Given the description of an element on the screen output the (x, y) to click on. 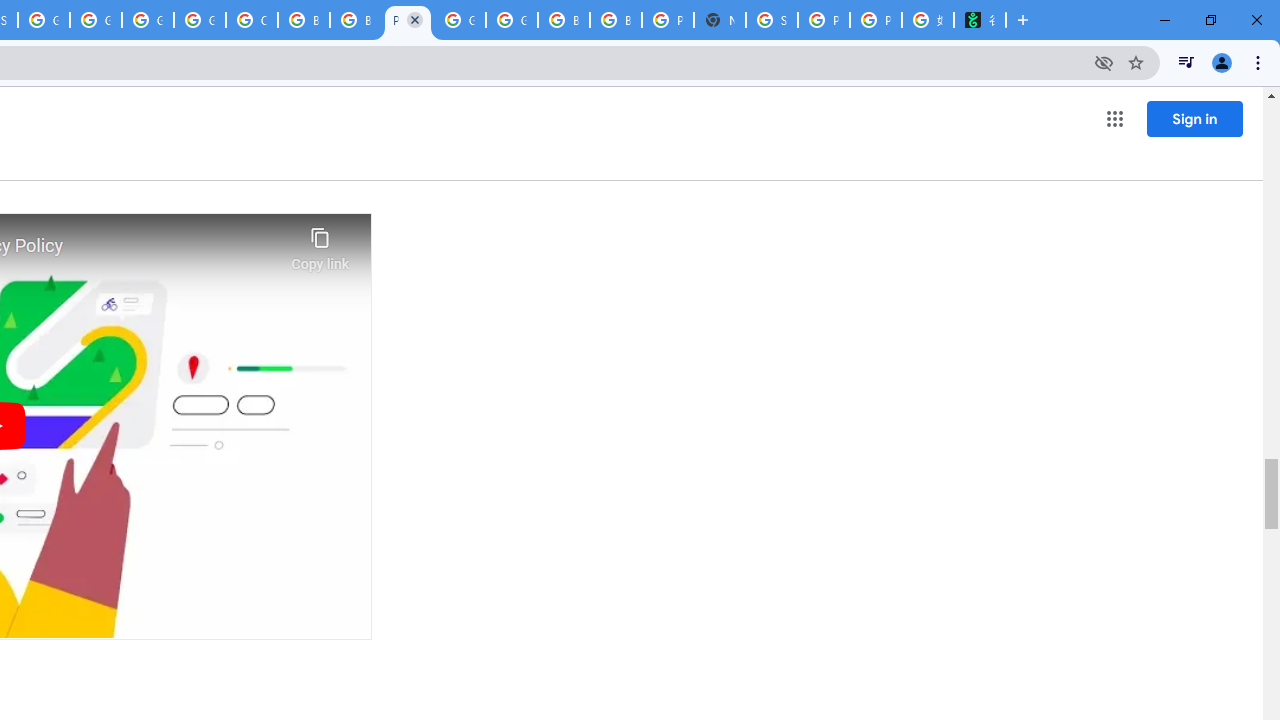
Browse Chrome as a guest - Computer - Google Chrome Help (616, 20)
Browse Chrome as a guest - Computer - Google Chrome Help (563, 20)
Sign in - Google Accounts (771, 20)
Browse Chrome as a guest - Computer - Google Chrome Help (355, 20)
